Given the description of an element on the screen output the (x, y) to click on. 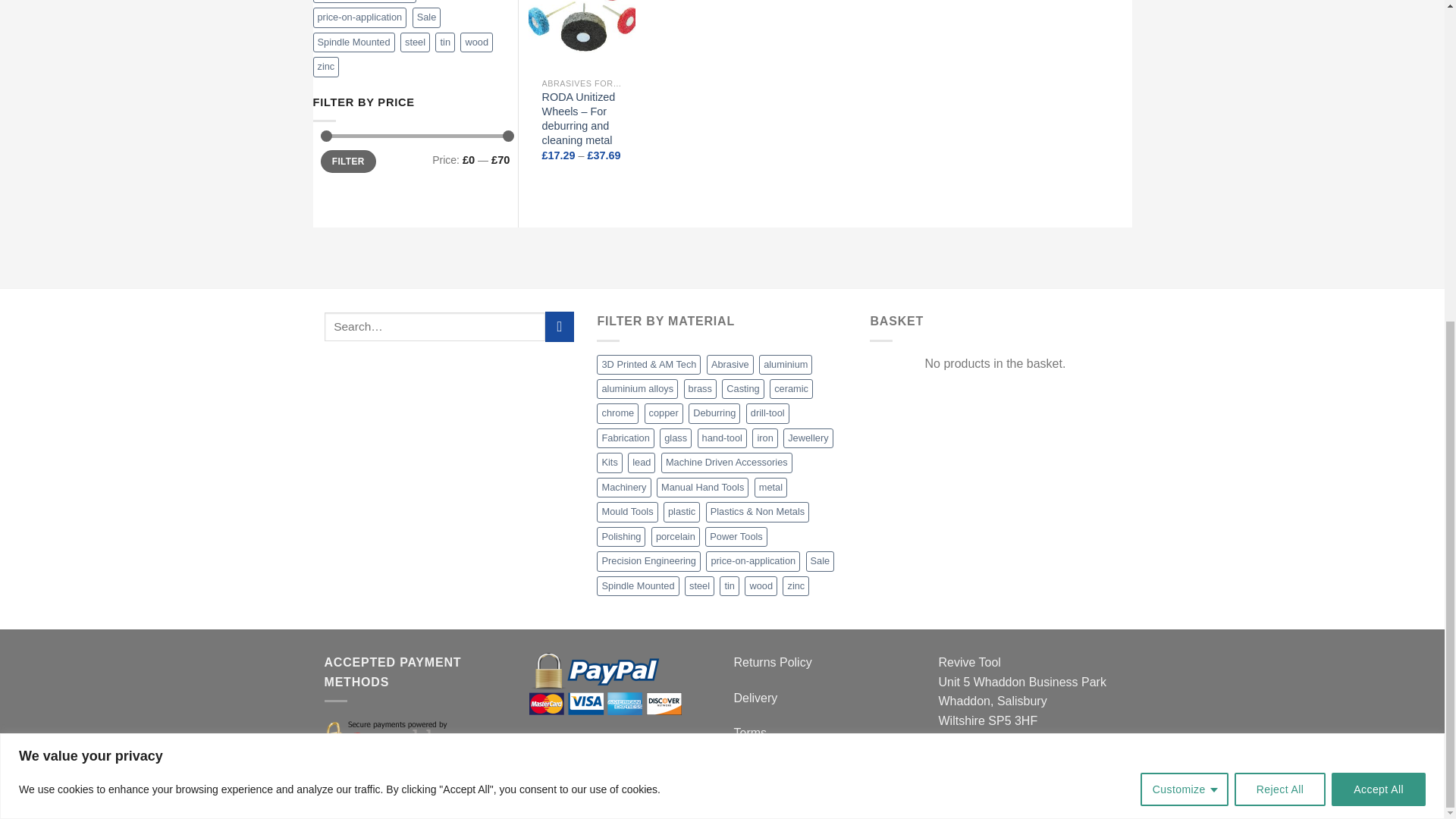
Reject All (1280, 264)
Accept All (1378, 264)
Customize (1184, 264)
